Given the description of an element on the screen output the (x, y) to click on. 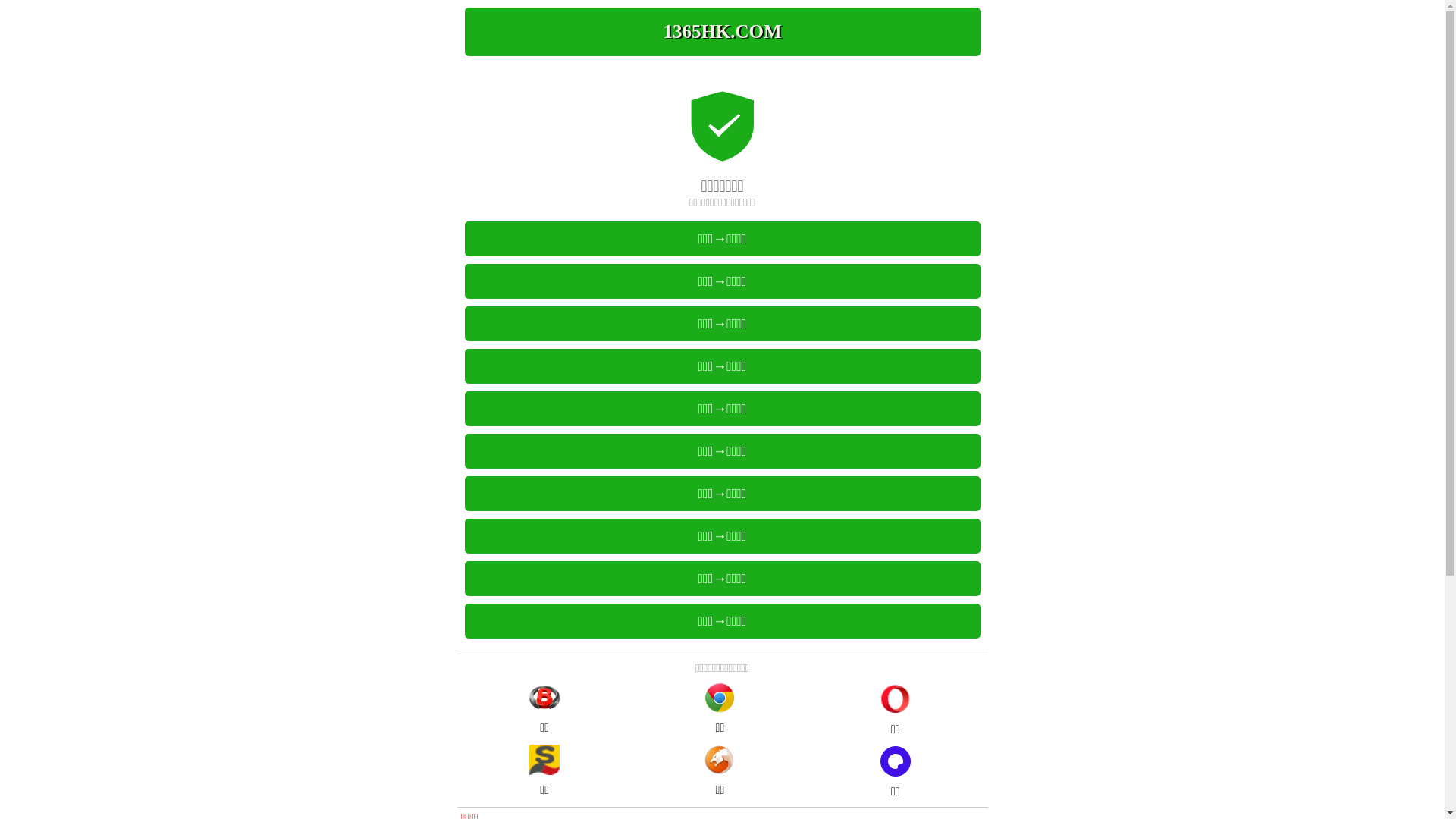
1365HK.COM Element type: text (721, 31)
